Given the description of an element on the screen output the (x, y) to click on. 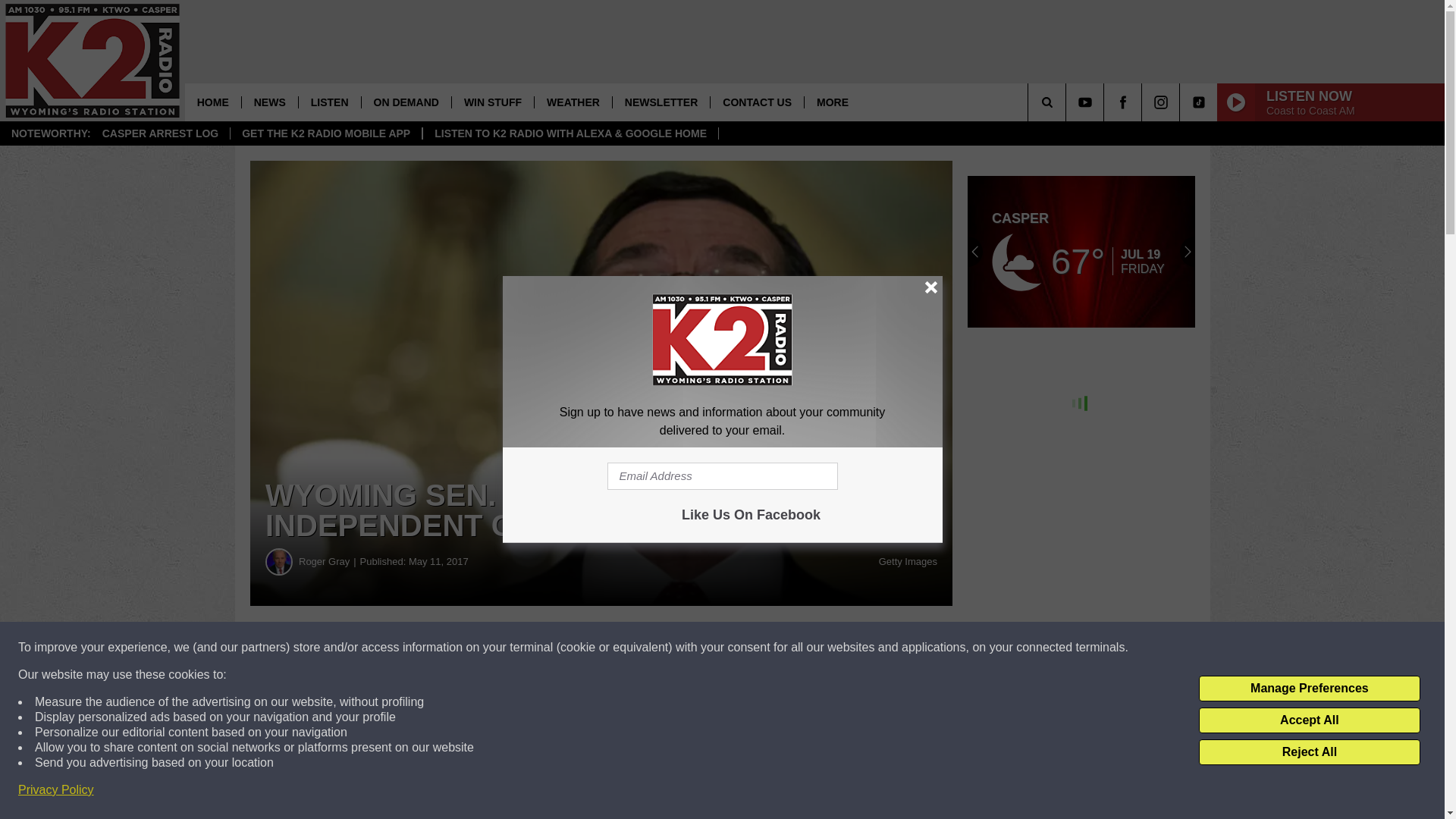
WEATHER (572, 102)
SEARCH (1068, 102)
SEARCH (1068, 102)
WIN STUFF (492, 102)
CASPER ARREST LOG (160, 133)
Share on Facebook (460, 647)
Email Address (722, 475)
NEWS (269, 102)
Privacy Policy (55, 789)
Share on Twitter (741, 647)
Manage Preferences (1309, 688)
LISTEN (329, 102)
HOME (212, 102)
Accept All (1309, 720)
Reject All (1309, 751)
